Given the description of an element on the screen output the (x, y) to click on. 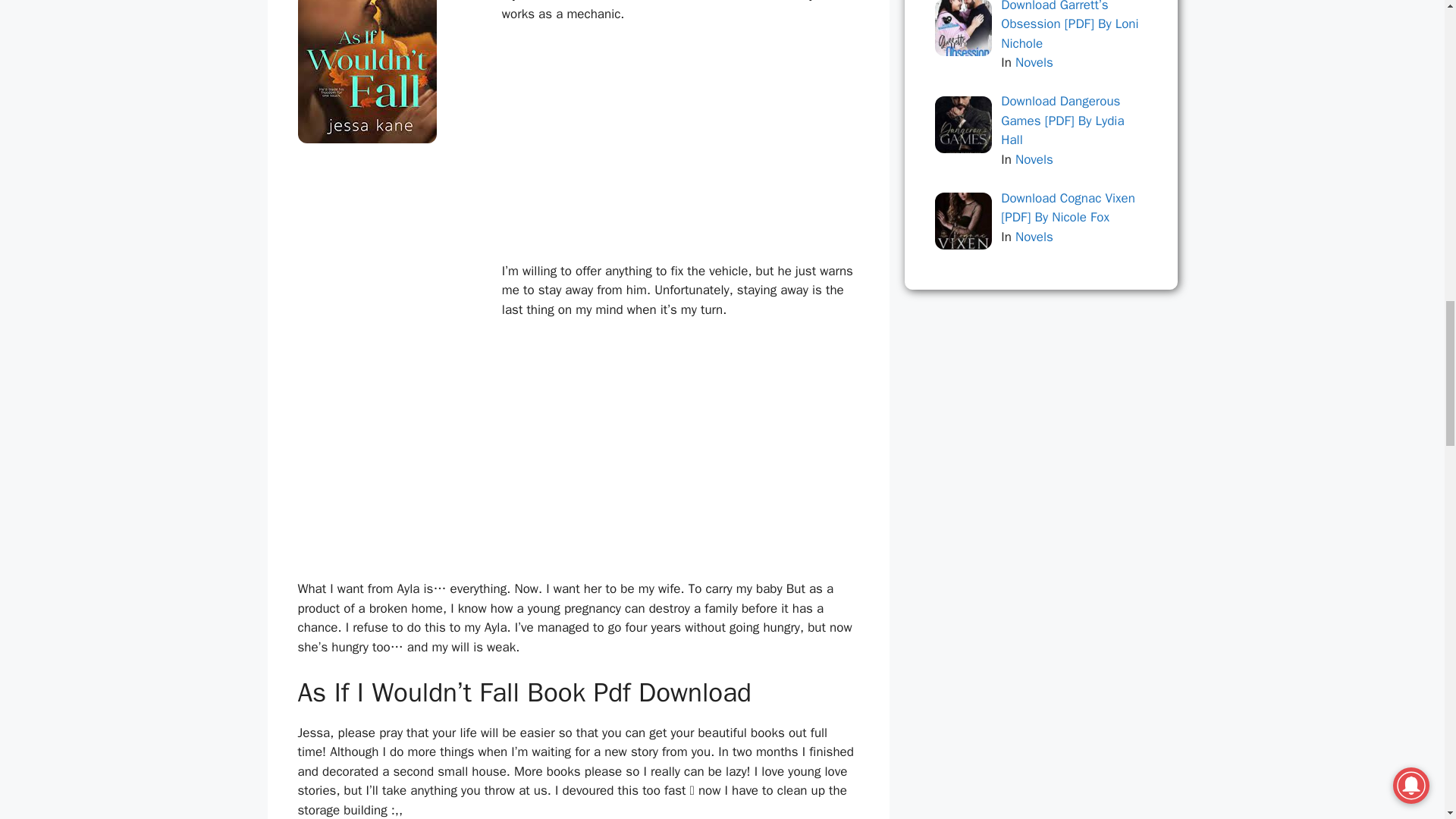
Advertisement (676, 149)
Advertisement (676, 445)
